Given the description of an element on the screen output the (x, y) to click on. 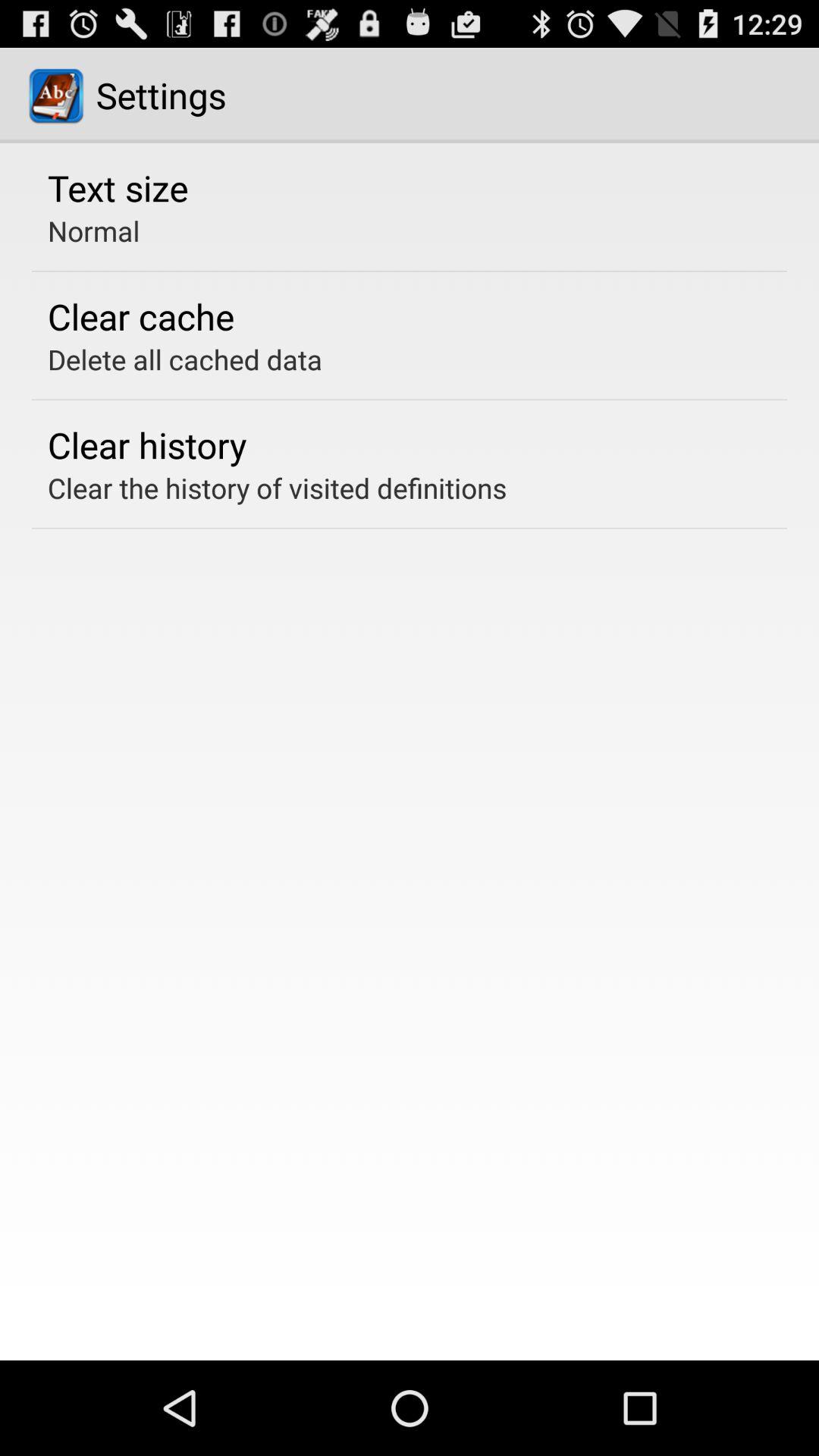
click app above the normal (117, 187)
